Given the description of an element on the screen output the (x, y) to click on. 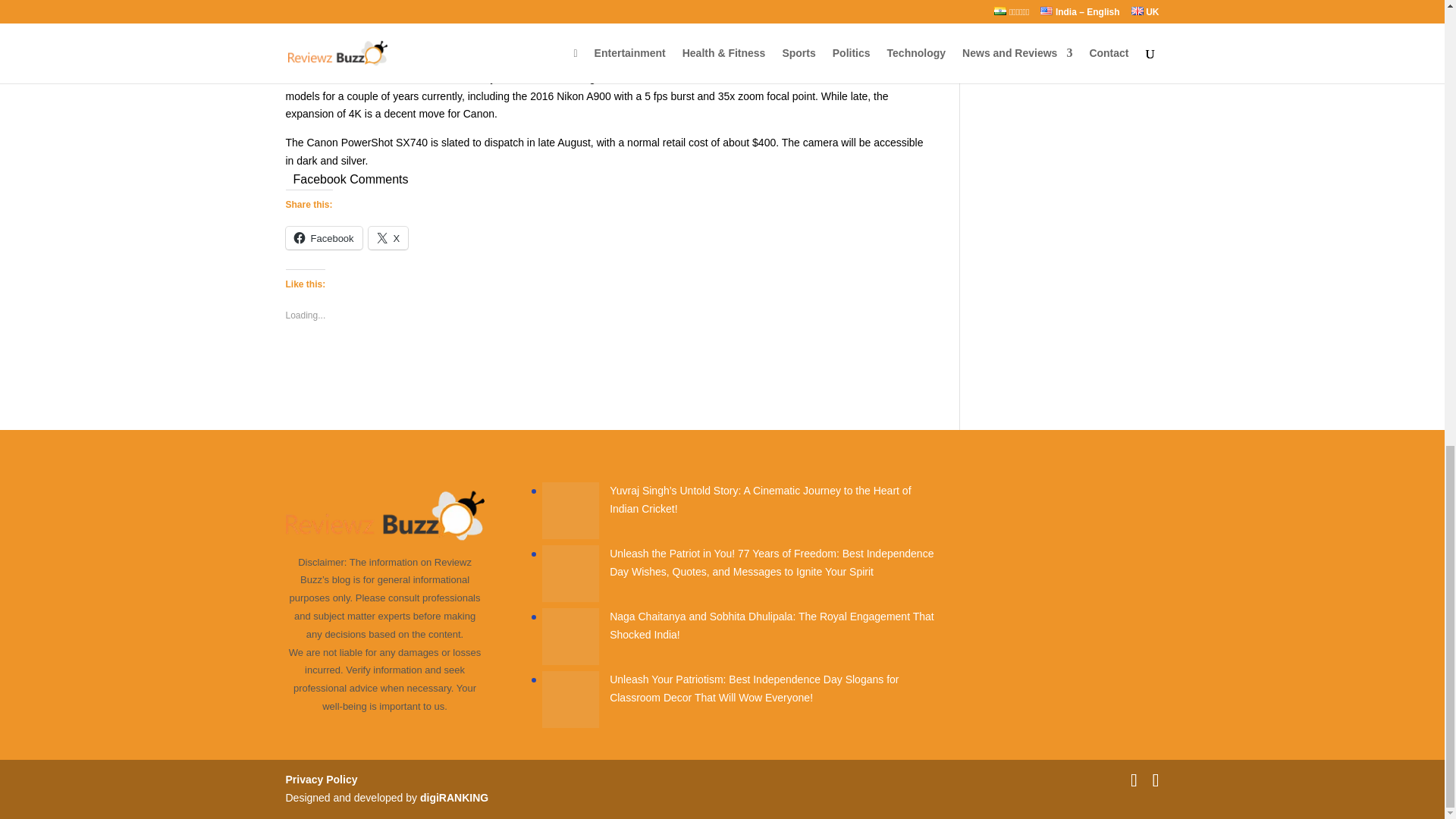
Click to share on X (388, 237)
X (388, 237)
Facebook (323, 237)
Click to share on Facebook (323, 237)
